Given the description of an element on the screen output the (x, y) to click on. 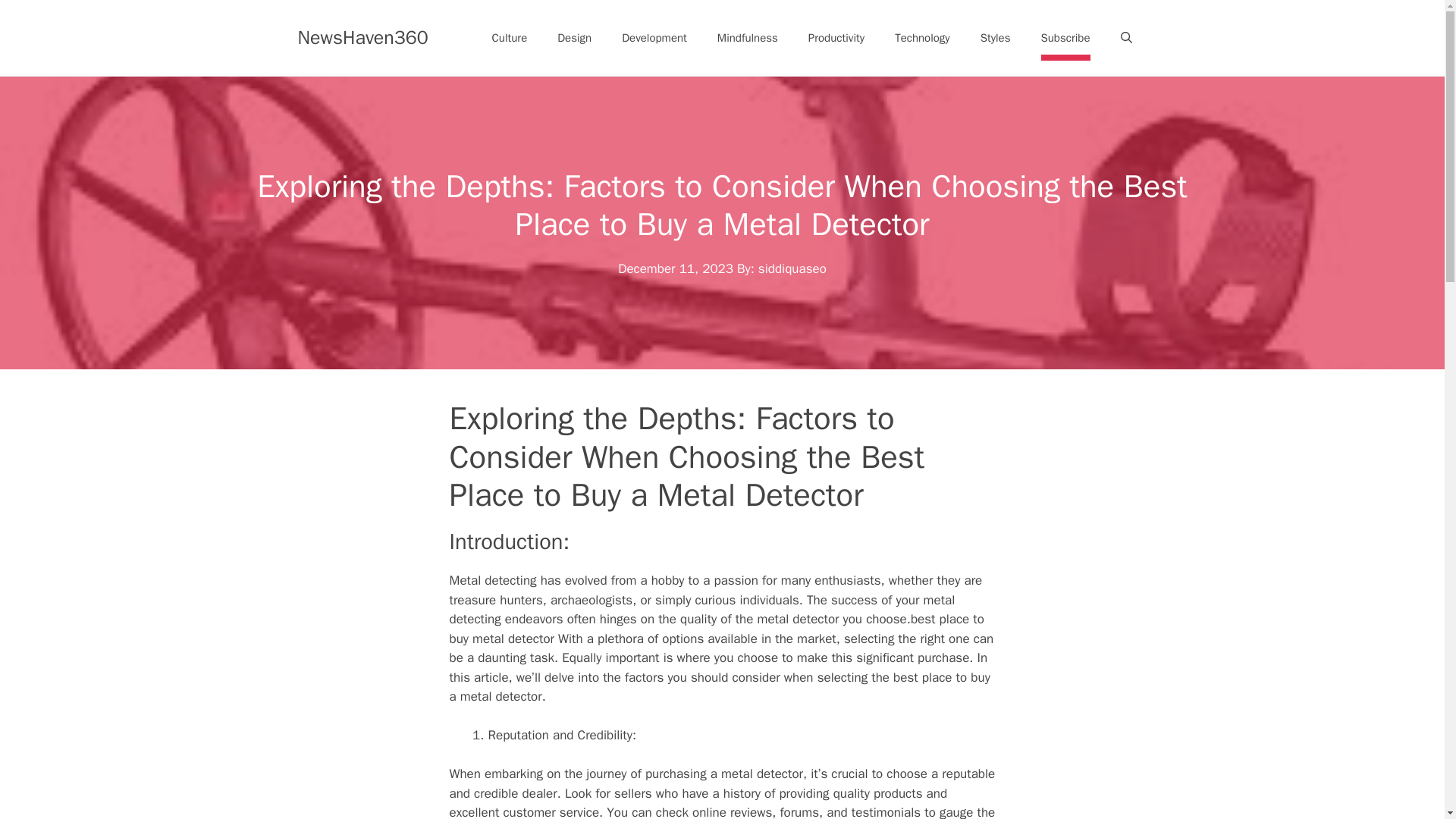
Culture (510, 37)
Development (654, 37)
best place to buy metal detector (716, 628)
Technology (922, 37)
Styles (995, 37)
Design (574, 37)
Productivity (836, 37)
NewsHaven360 (362, 37)
Subscribe (1065, 37)
Mindfulness (747, 37)
